Given the description of an element on the screen output the (x, y) to click on. 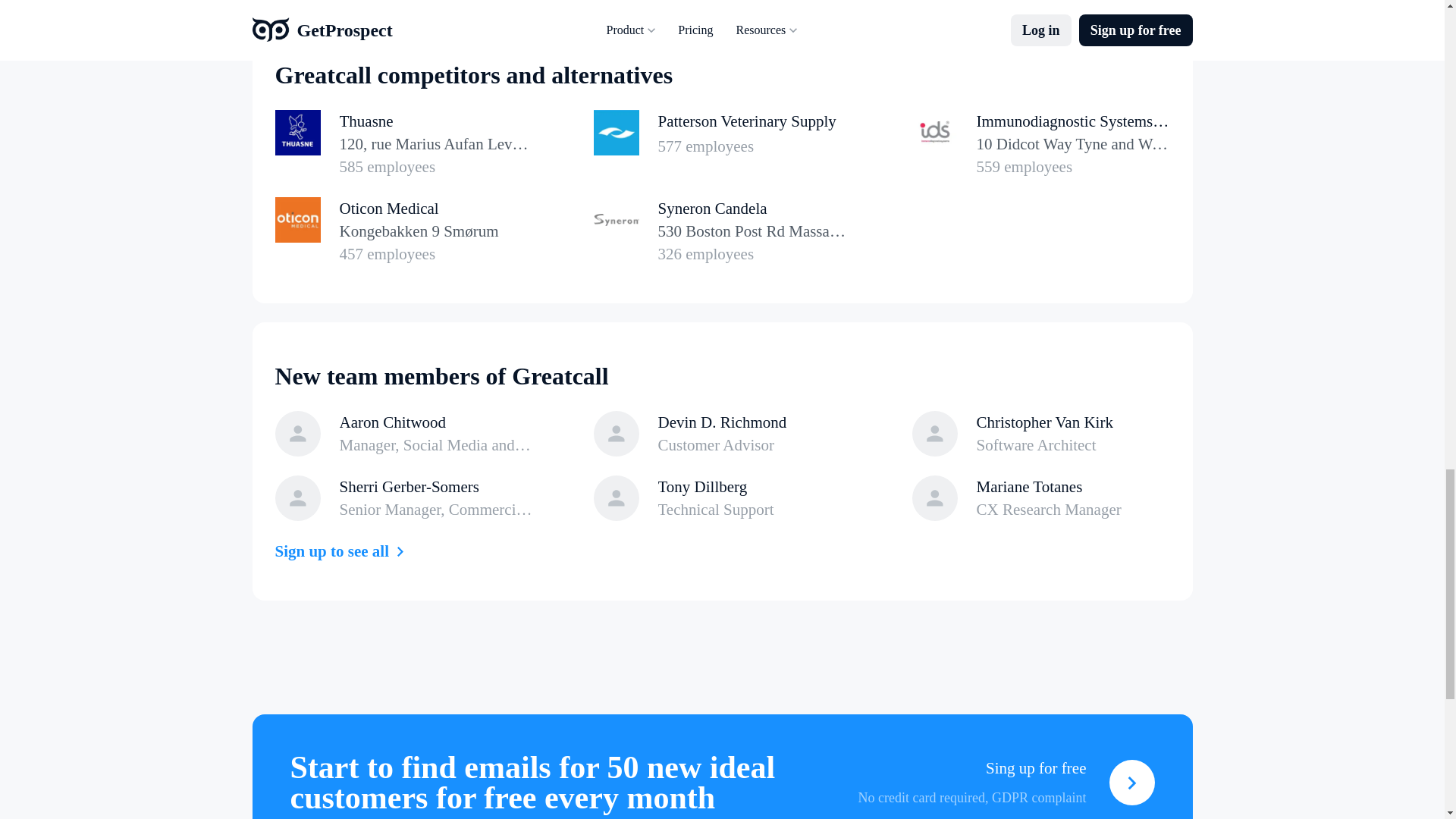
Sign up to see all (403, 143)
